Given the description of an element on the screen output the (x, y) to click on. 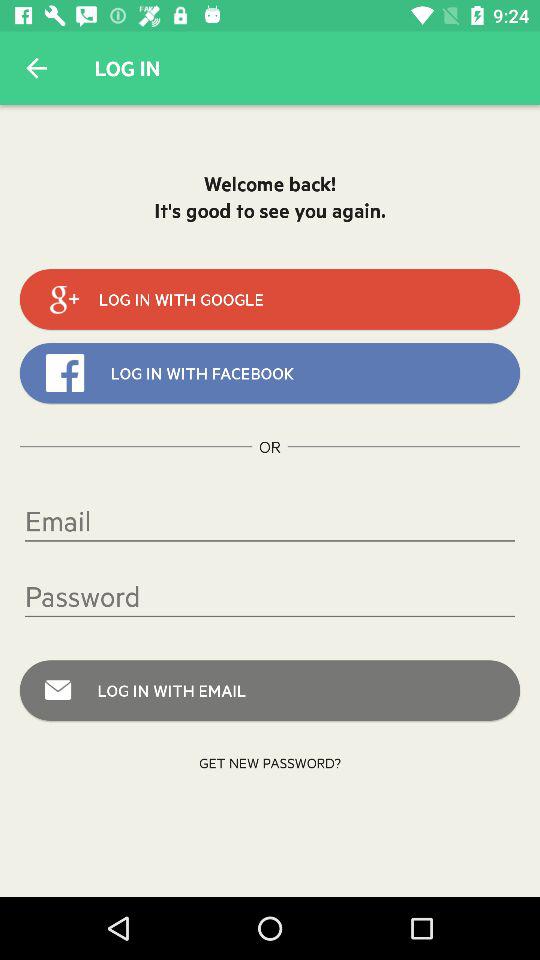
press item above the welcome back it item (36, 68)
